Given the description of an element on the screen output the (x, y) to click on. 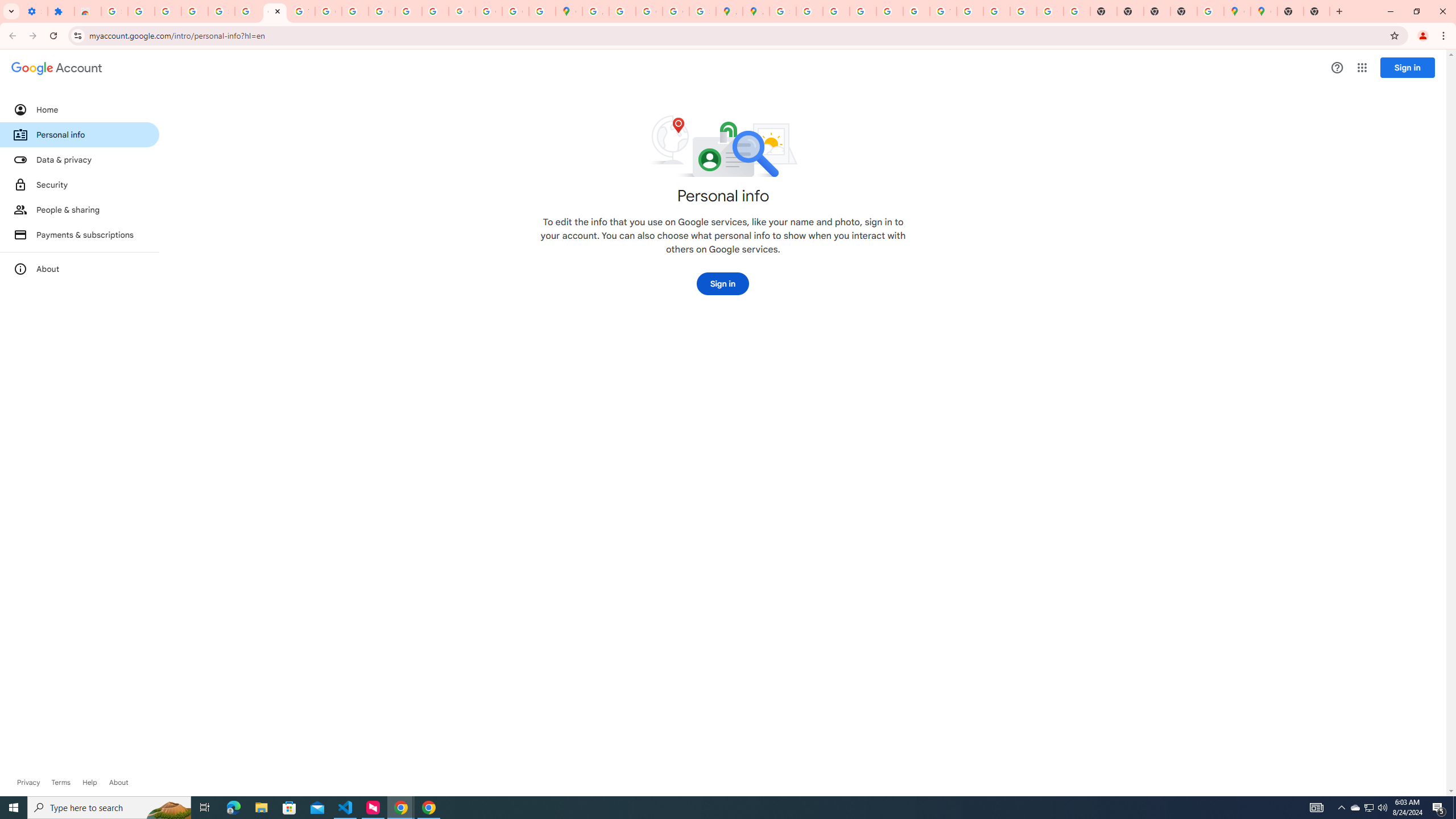
Google Account (275, 11)
People & sharing (79, 209)
YouTube (943, 11)
Google Maps (1263, 11)
Settings - On startup (34, 11)
